Given the description of an element on the screen output the (x, y) to click on. 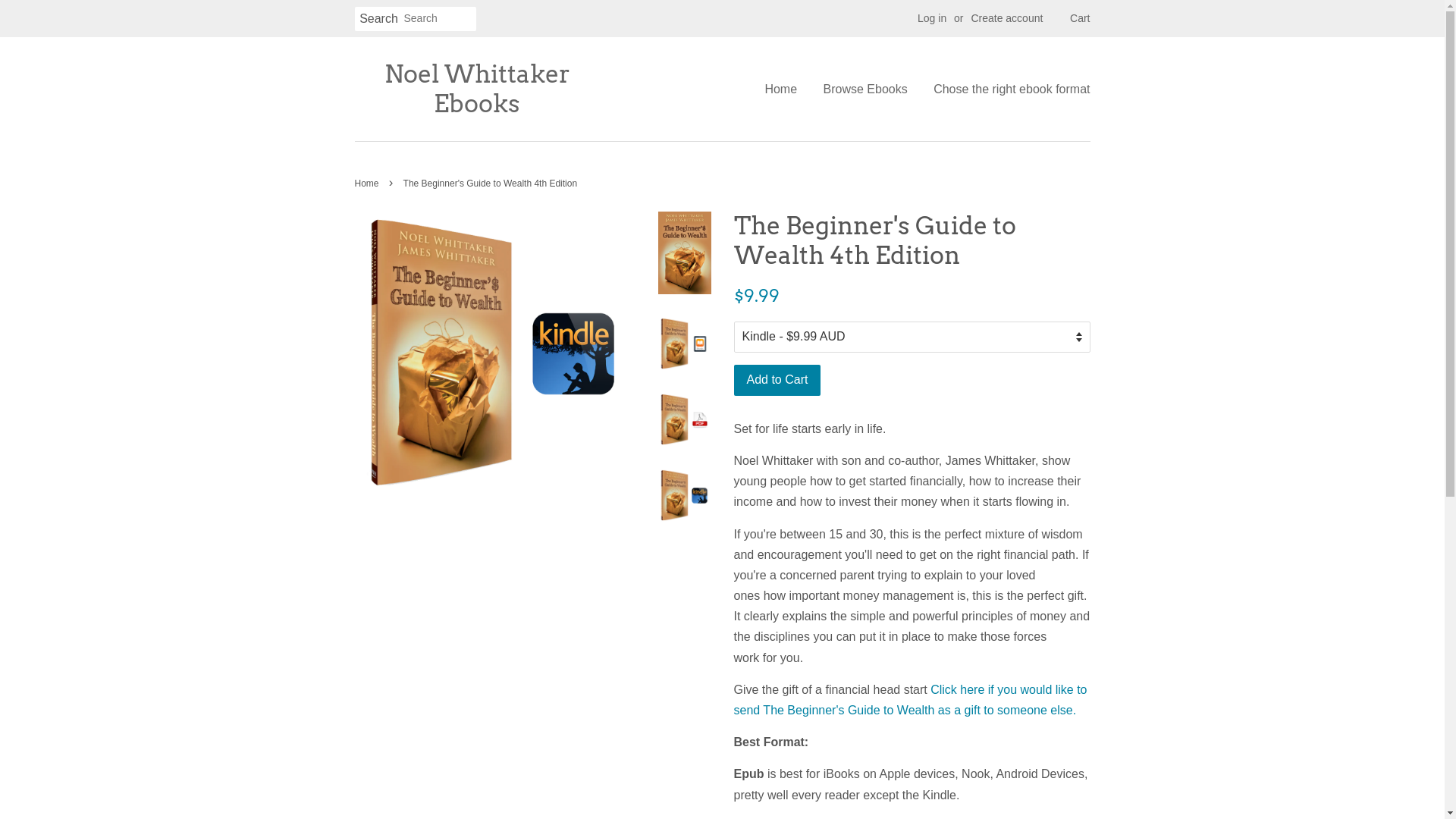
Cart Element type: text (1079, 18)
Home Element type: text (786, 88)
Create account Element type: text (1006, 18)
Log in Element type: text (931, 18)
Browse Ebooks Element type: text (865, 88)
Search Element type: text (378, 18)
Chose the right ebook format Element type: text (1005, 88)
Noel Whittaker Ebooks Element type: text (476, 88)
Add to Cart Element type: text (777, 379)
Home Element type: text (368, 183)
